Given the description of an element on the screen output the (x, y) to click on. 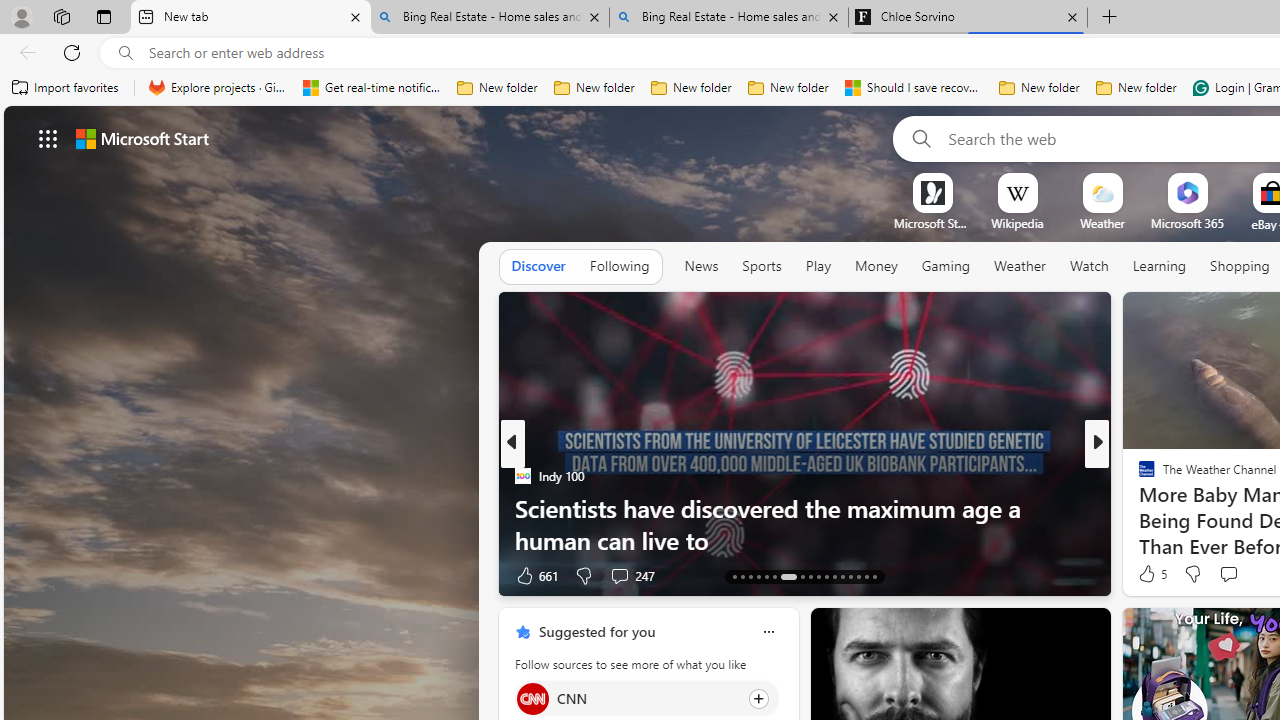
AutomationID: tab-41 (865, 576)
How to Survive (1138, 507)
View comments 25 Comment (1237, 574)
View comments 6 Comment (1241, 574)
The Verge (1138, 475)
View comments 6 Comment (1234, 575)
App launcher (47, 138)
Yumophile (1138, 507)
Gaming (945, 267)
View comments 7 Comment (1234, 574)
